Given the description of an element on the screen output the (x, y) to click on. 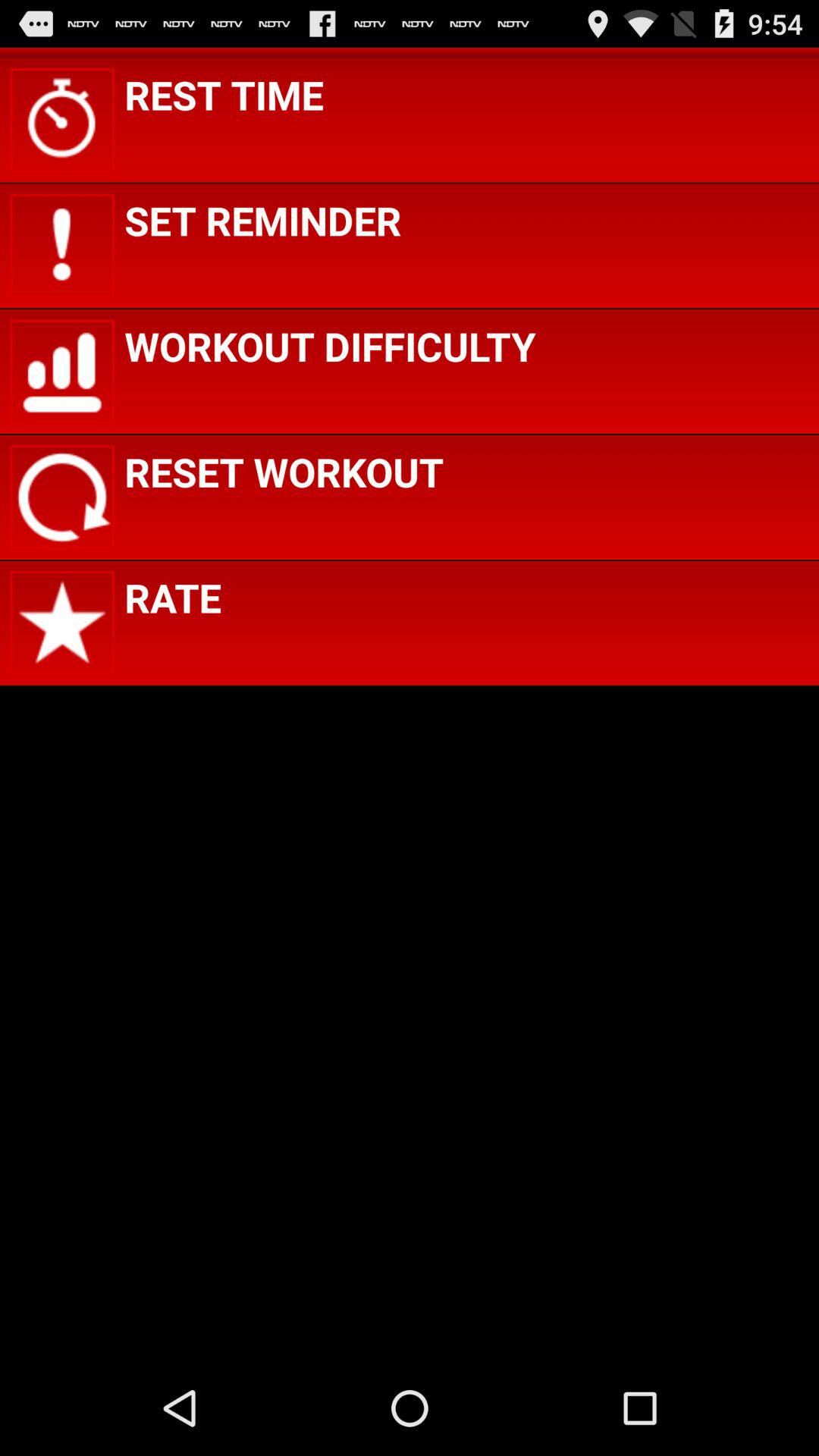
turn on set reminder item (262, 219)
